Given the description of an element on the screen output the (x, y) to click on. 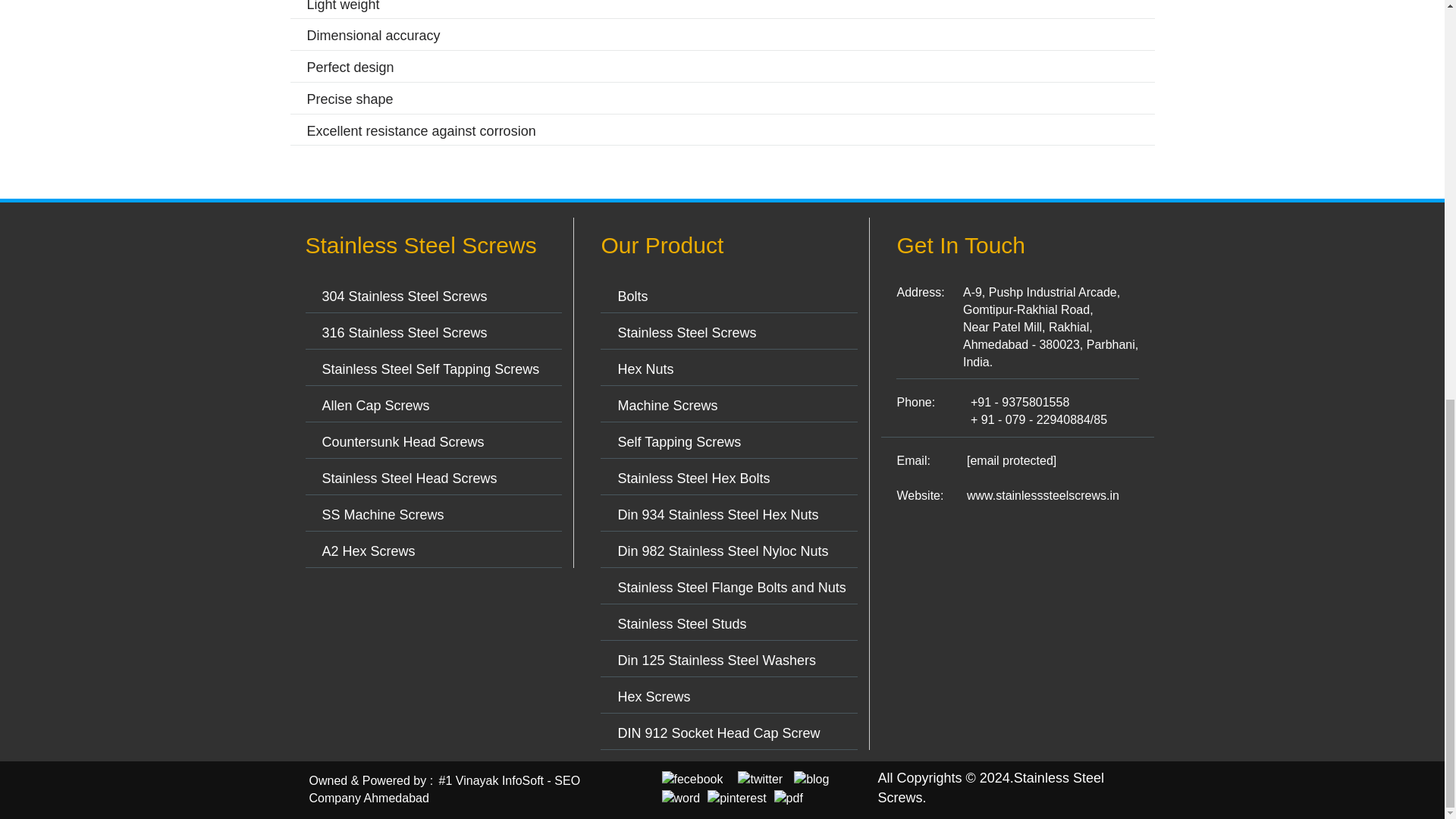
Stainless Steel Self Tapping Screws (429, 368)
304 Stainless Steel Screws (403, 296)
Map (1017, 588)
316 Stainless Steel Screws (403, 332)
